Given the description of an element on the screen output the (x, y) to click on. 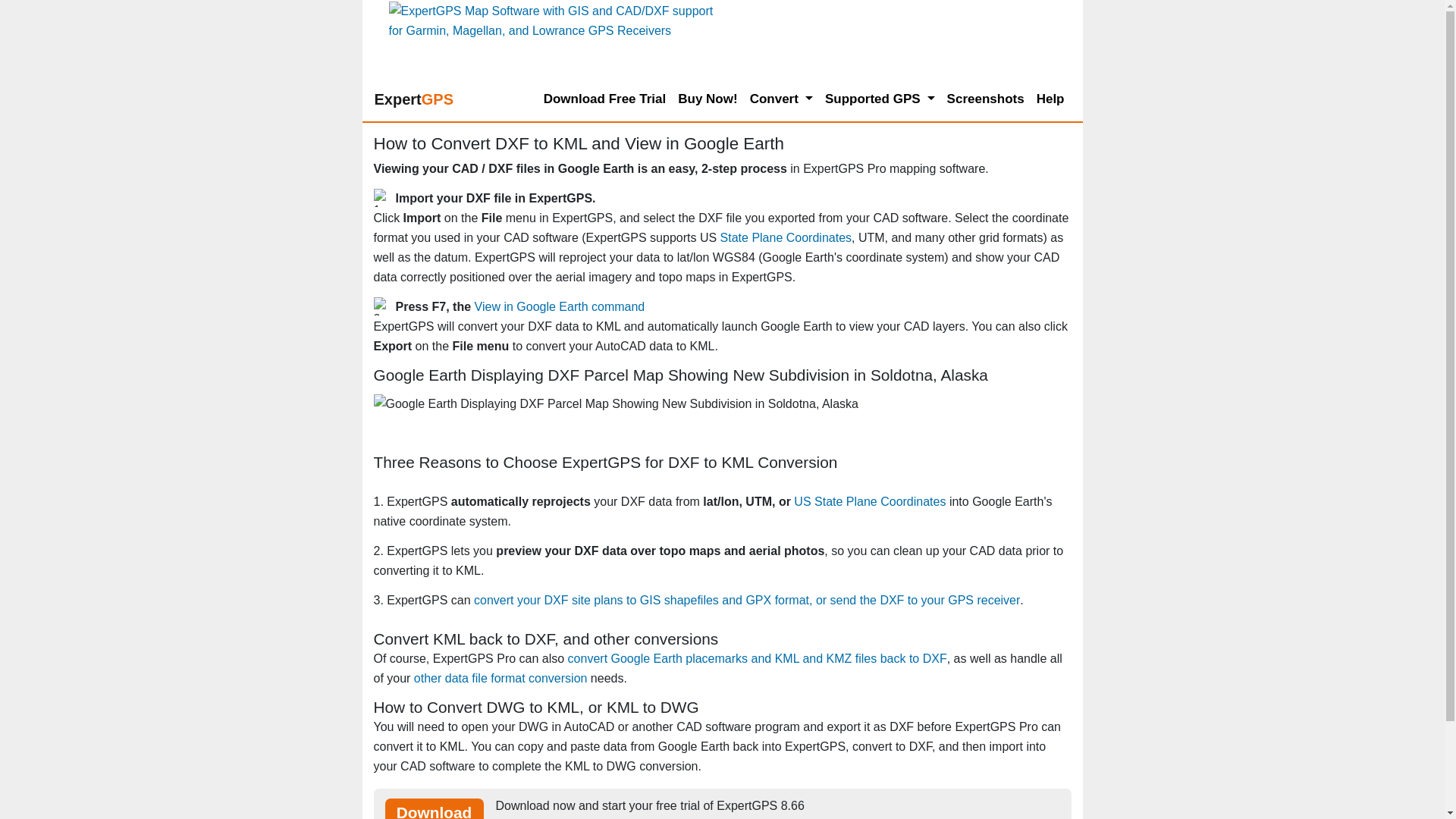
ExpertGPS (414, 99)
Download a free trial of ExpertGPS map software (434, 808)
Step 1: (381, 198)
ExpertGPS Map Software Home Page (414, 99)
View in Google Earth: ExpertGPS Help File (559, 306)
Download a fully-featured demo of ExpertGPS (604, 99)
Download Free Trial (604, 99)
Step 2: (381, 306)
File conversions with ExpertGPS (500, 677)
